Given the description of an element on the screen output the (x, y) to click on. 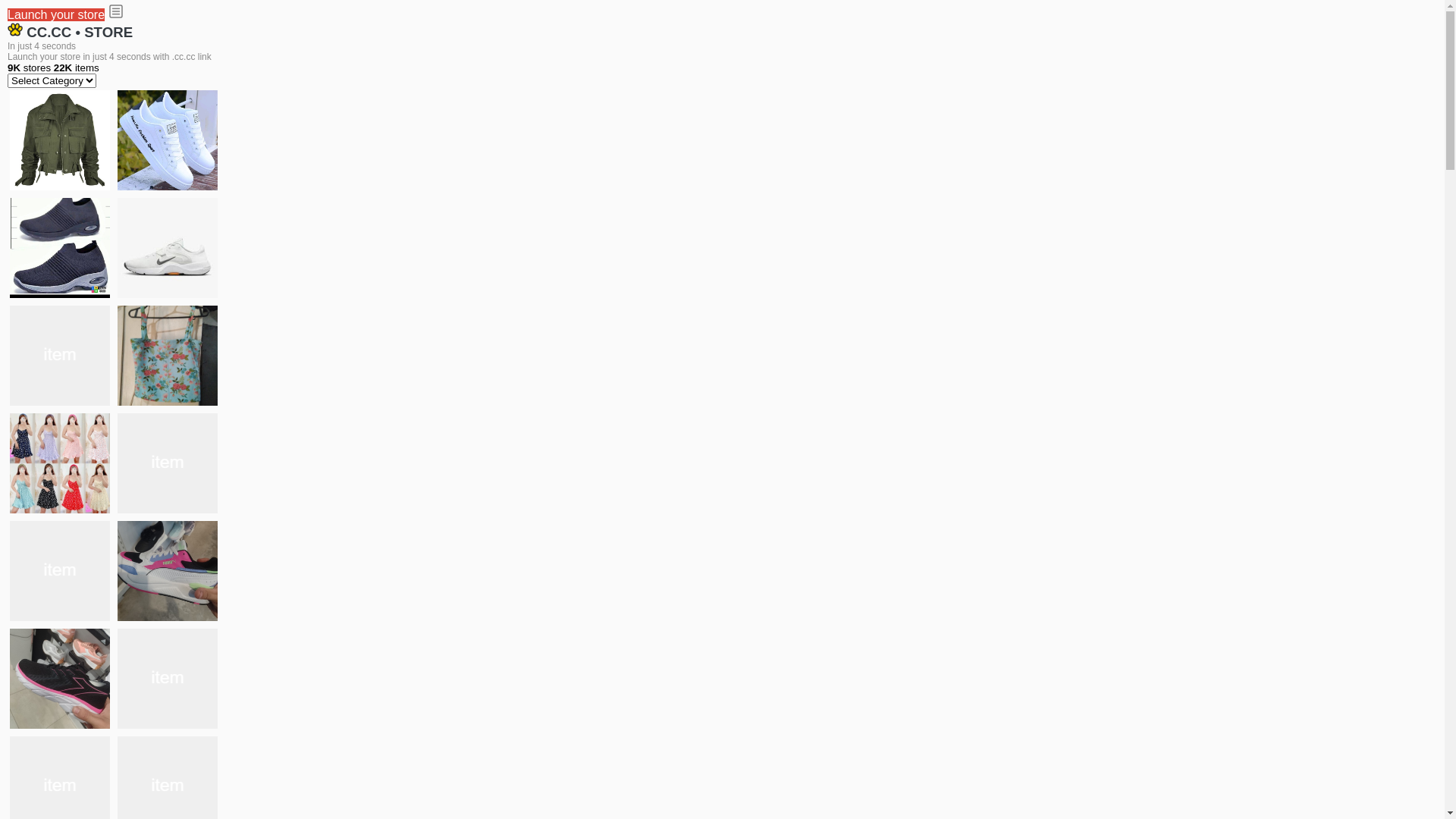
white shoes Element type: hover (167, 140)
Ukay cloth Element type: hover (167, 355)
Things we need Element type: hover (59, 355)
jacket Element type: hover (59, 140)
Shoes Element type: hover (167, 463)
Shoes for boys Element type: hover (167, 247)
Zapatillas Element type: hover (59, 678)
Launch your store Element type: text (55, 14)
Short pant Element type: hover (167, 678)
Dress/square nect top Element type: hover (59, 463)
Zapatillas pumas Element type: hover (167, 570)
shoes for boys Element type: hover (59, 247)
